Given the description of an element on the screen output the (x, y) to click on. 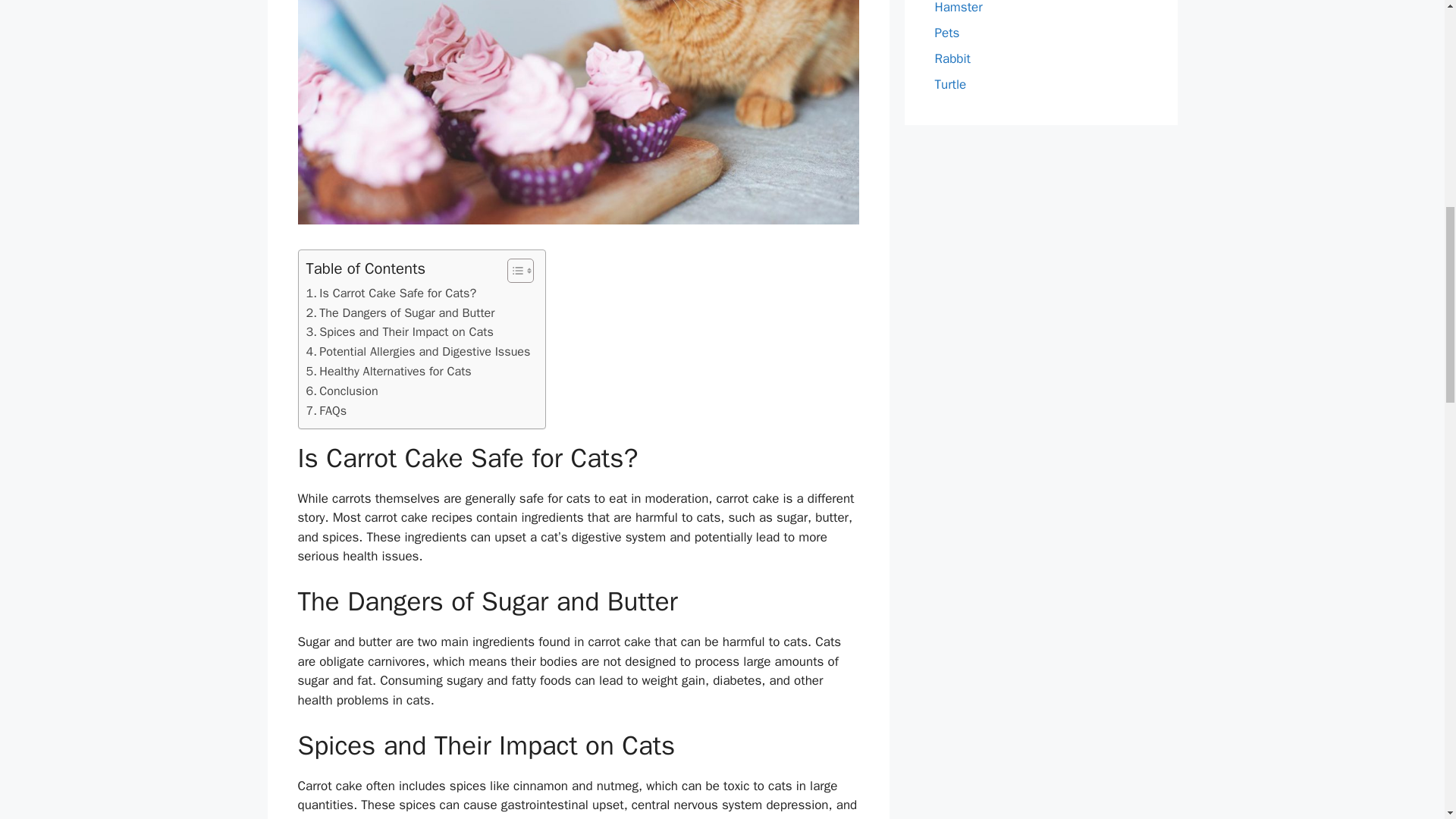
Conclusion (341, 391)
The Dangers of Sugar and Butter (400, 312)
Healthy Alternatives for Cats (388, 371)
Conclusion (341, 391)
Spices and Their Impact on Cats (399, 332)
Spices and Their Impact on Cats (399, 332)
FAQs (326, 410)
Is Carrot Cake Safe for Cats? (391, 293)
Healthy Alternatives for Cats (388, 371)
Potential Allergies and Digestive Issues (418, 351)
